Given the description of an element on the screen output the (x, y) to click on. 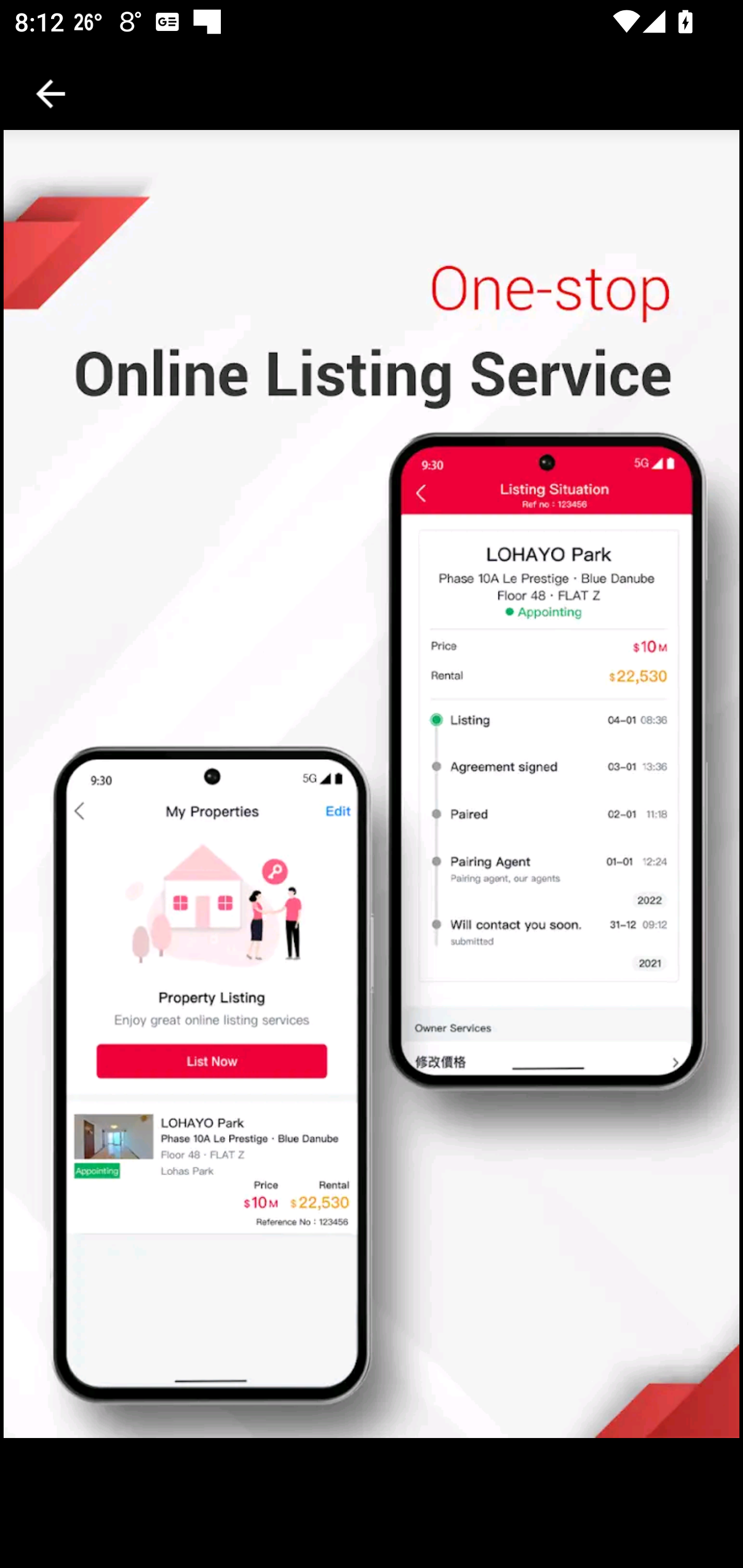
Back (50, 93)
